Given the description of an element on the screen output the (x, y) to click on. 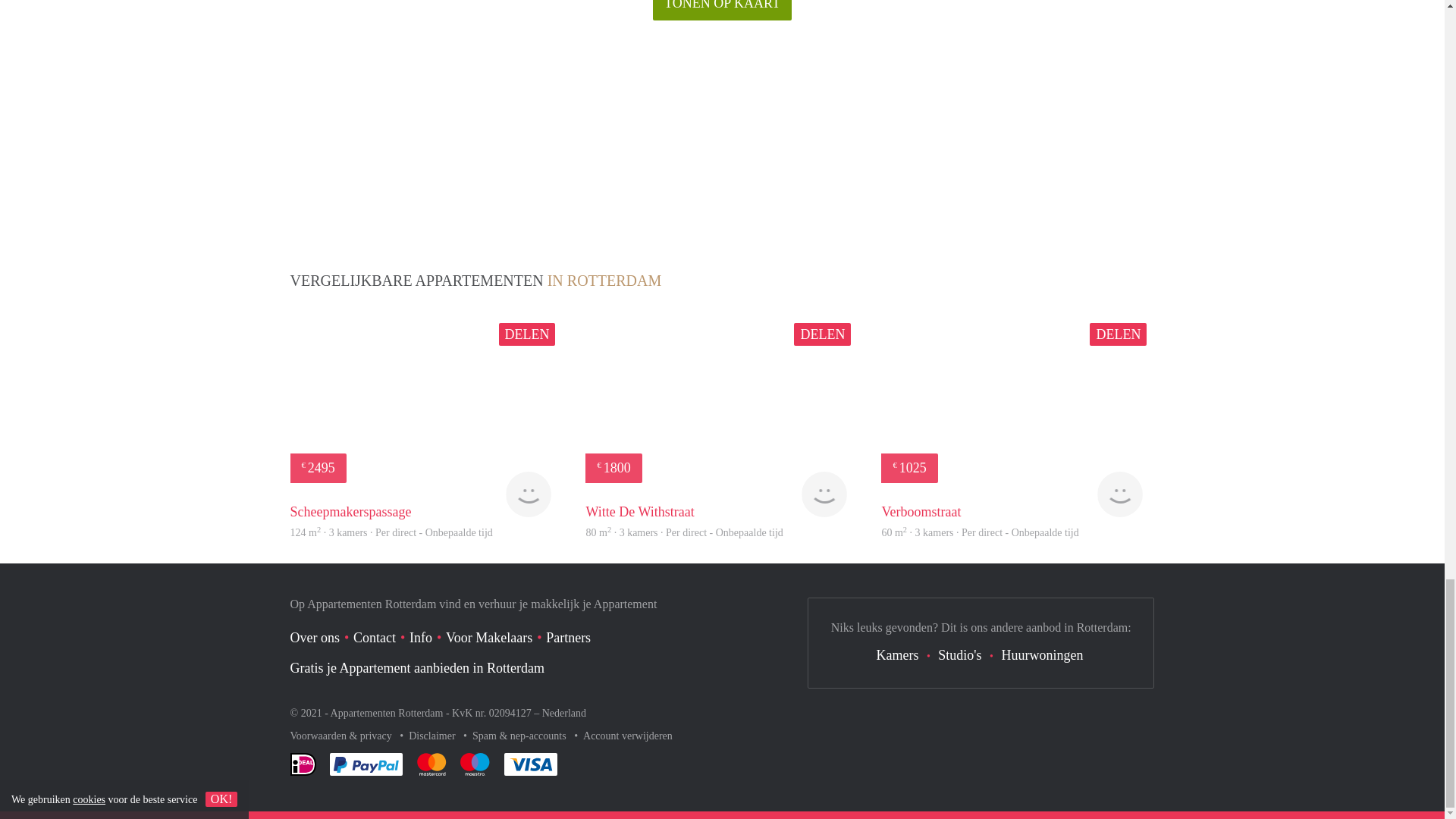
DELEN (527, 333)
TONEN OP KAART (722, 10)
